Given the description of an element on the screen output the (x, y) to click on. 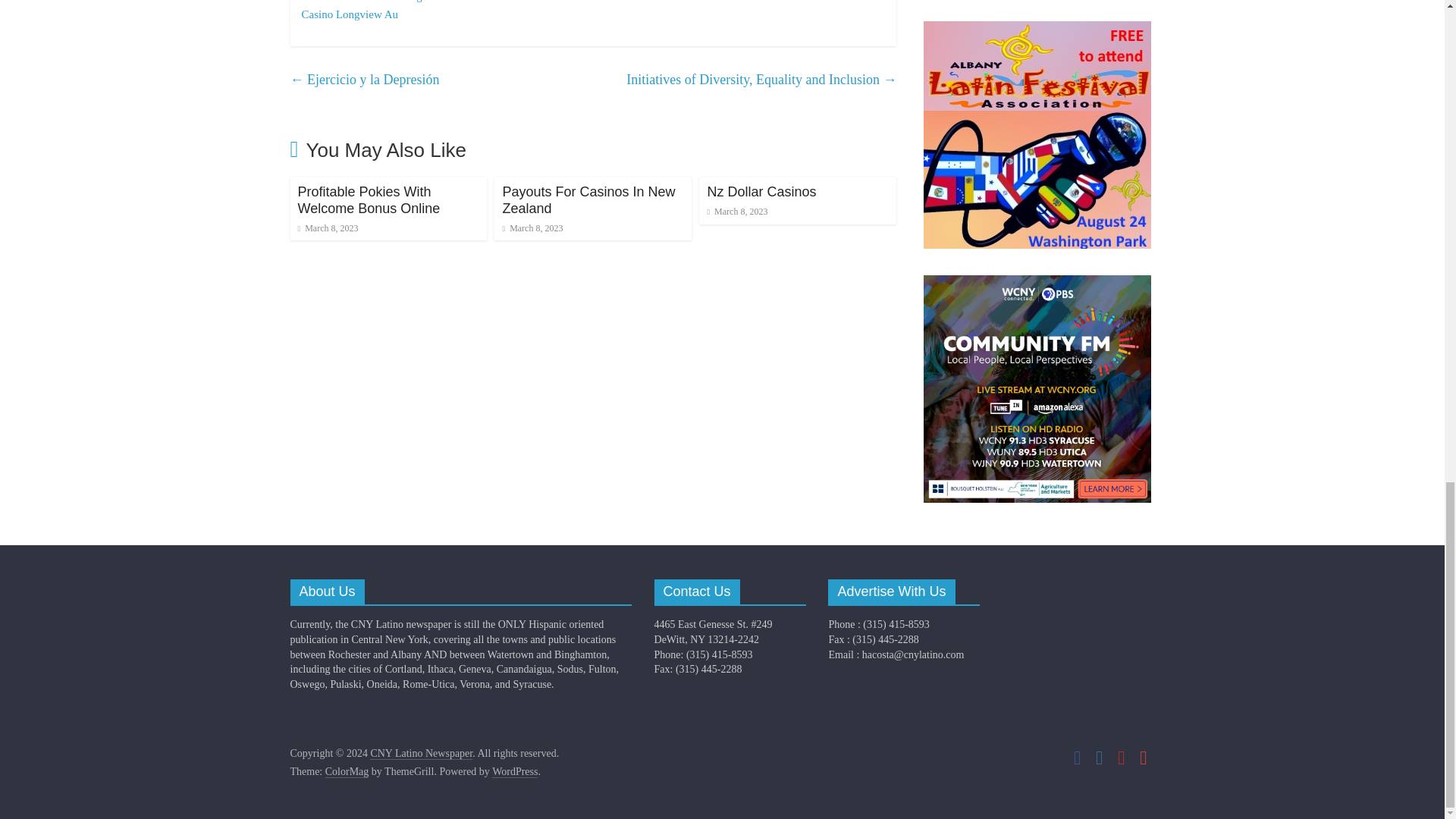
4:27 pm (327, 227)
Nz Dollar Casinos (760, 191)
Payouts For Casinos In New Zealand (588, 200)
4:27 pm (532, 227)
Profitable Pokies With Welcome Bonus Online (368, 200)
